Given the description of an element on the screen output the (x, y) to click on. 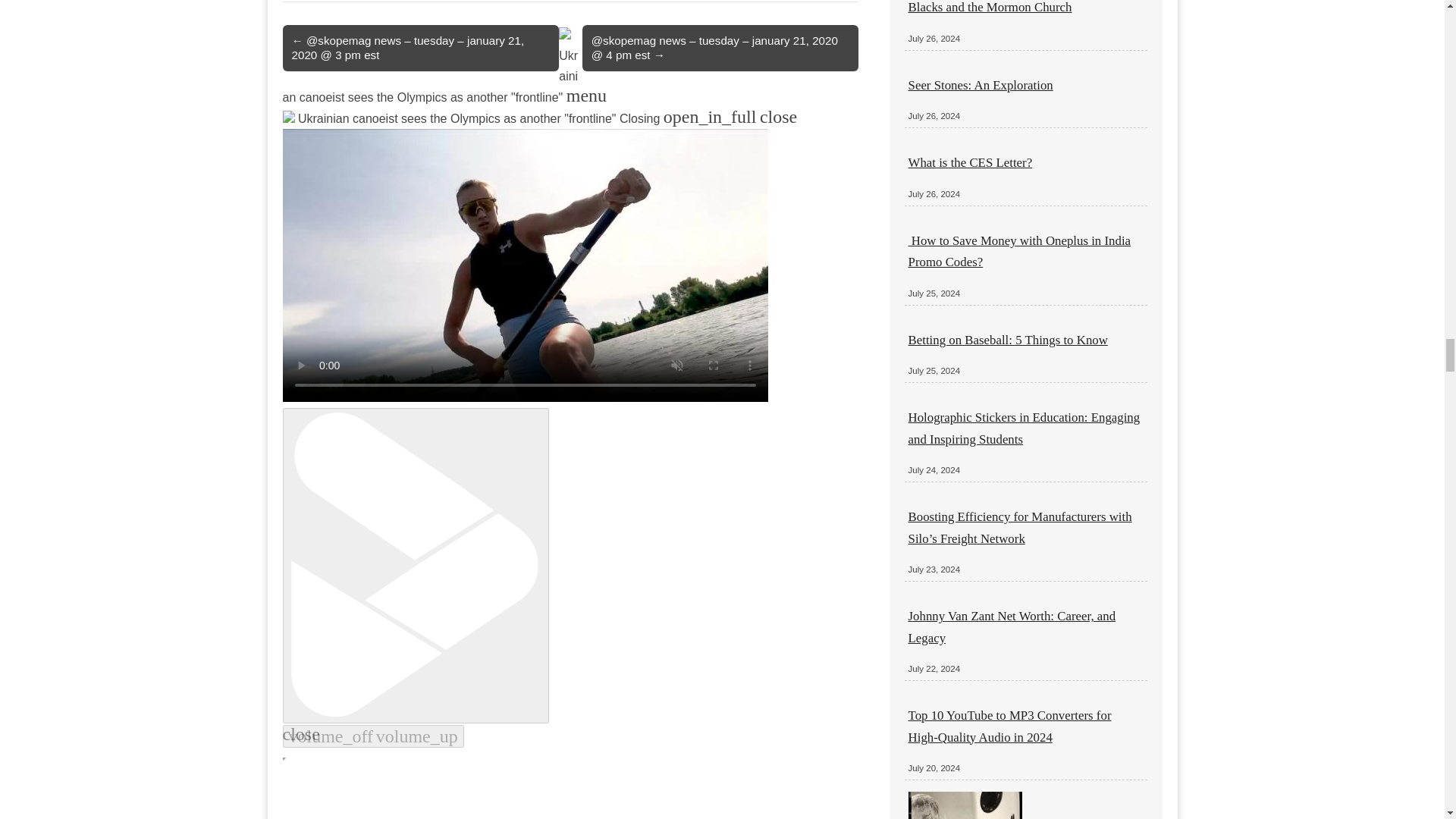
 How to Save Money with Oneplus in India Promo Codes? (1019, 251)
Blacks and the Mormon Church (989, 7)
Betting on Baseball: 5 Things to Know (1008, 339)
What is the CES Letter? (970, 162)
Seer Stones: An Exploration (980, 84)
Johnny Van Zant Net Worth: Career, and Legacy (1012, 626)
